Given the description of an element on the screen output the (x, y) to click on. 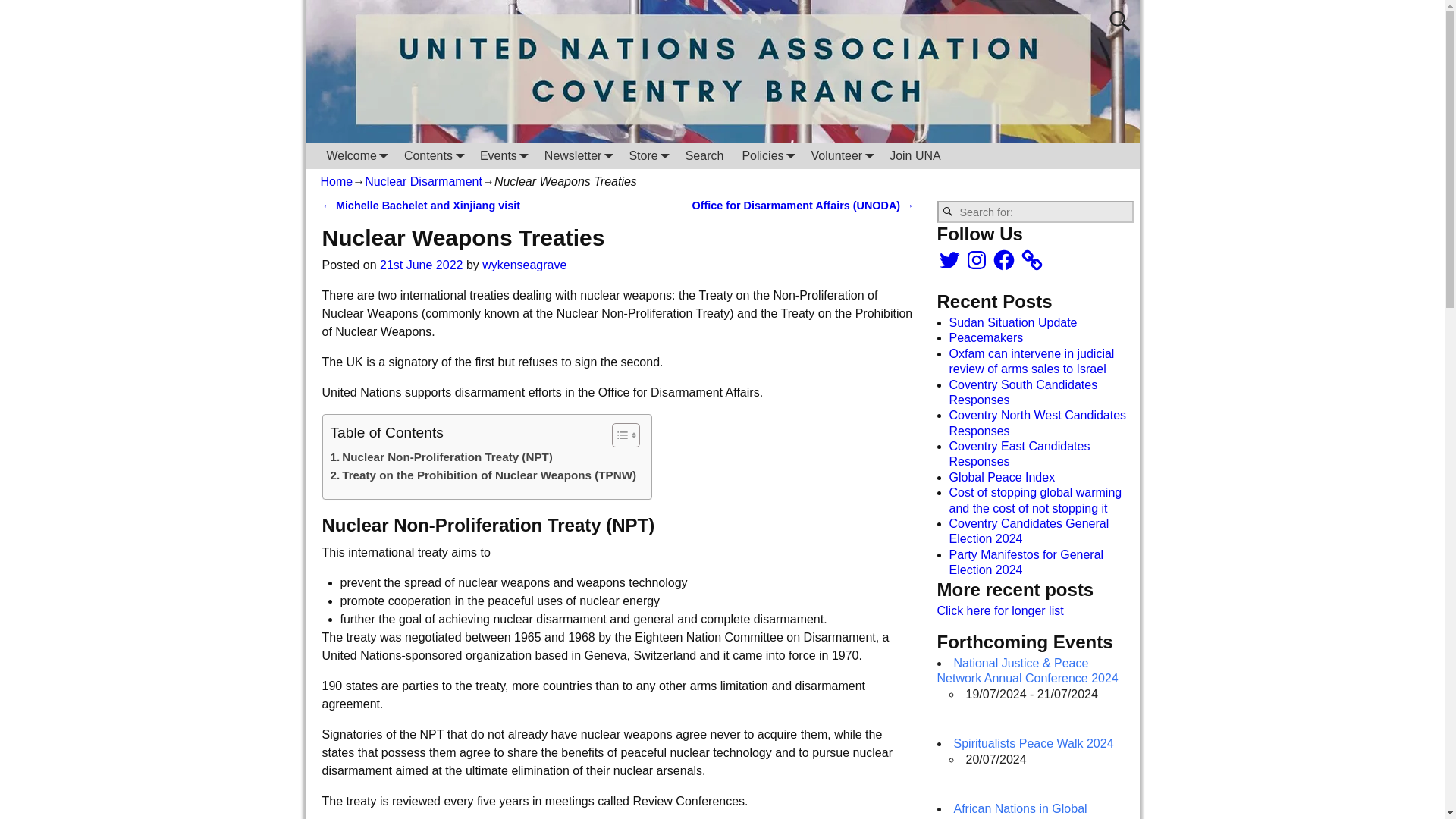
Search (705, 155)
Store (647, 155)
Welcome (355, 155)
Newsletter (577, 155)
View all posts by wykenseagrave (523, 264)
Policies (767, 155)
Contents (432, 155)
Events (502, 155)
4:55 am (421, 264)
